Given the description of an element on the screen output the (x, y) to click on. 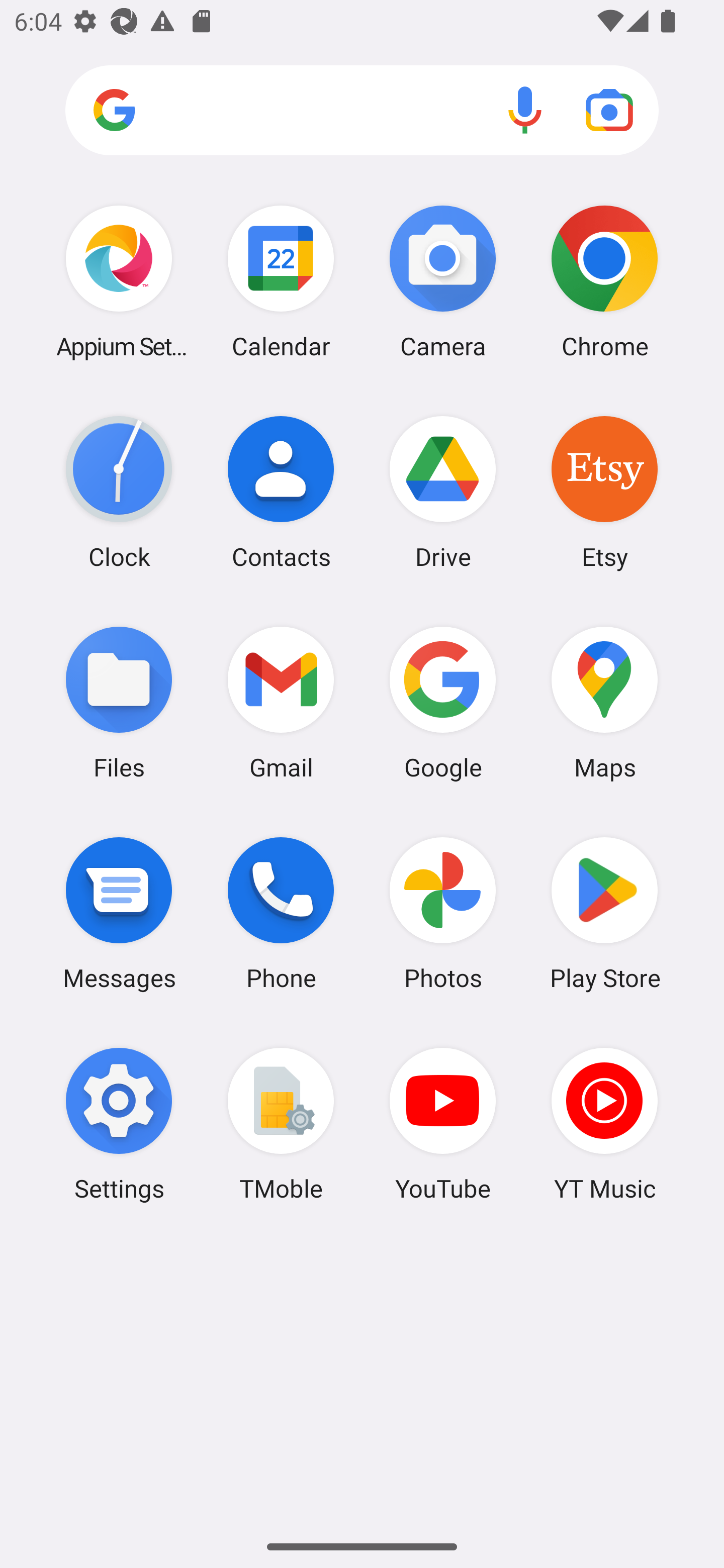
Search apps, web and more (361, 110)
Voice search (524, 109)
Google Lens (608, 109)
Appium Settings (118, 281)
Calendar (280, 281)
Camera (443, 281)
Chrome (604, 281)
Clock (118, 492)
Contacts (280, 492)
Drive (443, 492)
Etsy (604, 492)
Files (118, 702)
Gmail (280, 702)
Google (443, 702)
Maps (604, 702)
Messages (118, 913)
Phone (280, 913)
Photos (443, 913)
Play Store (604, 913)
Settings (118, 1124)
TMoble (280, 1124)
YouTube (443, 1124)
YT Music (604, 1124)
